Given the description of an element on the screen output the (x, y) to click on. 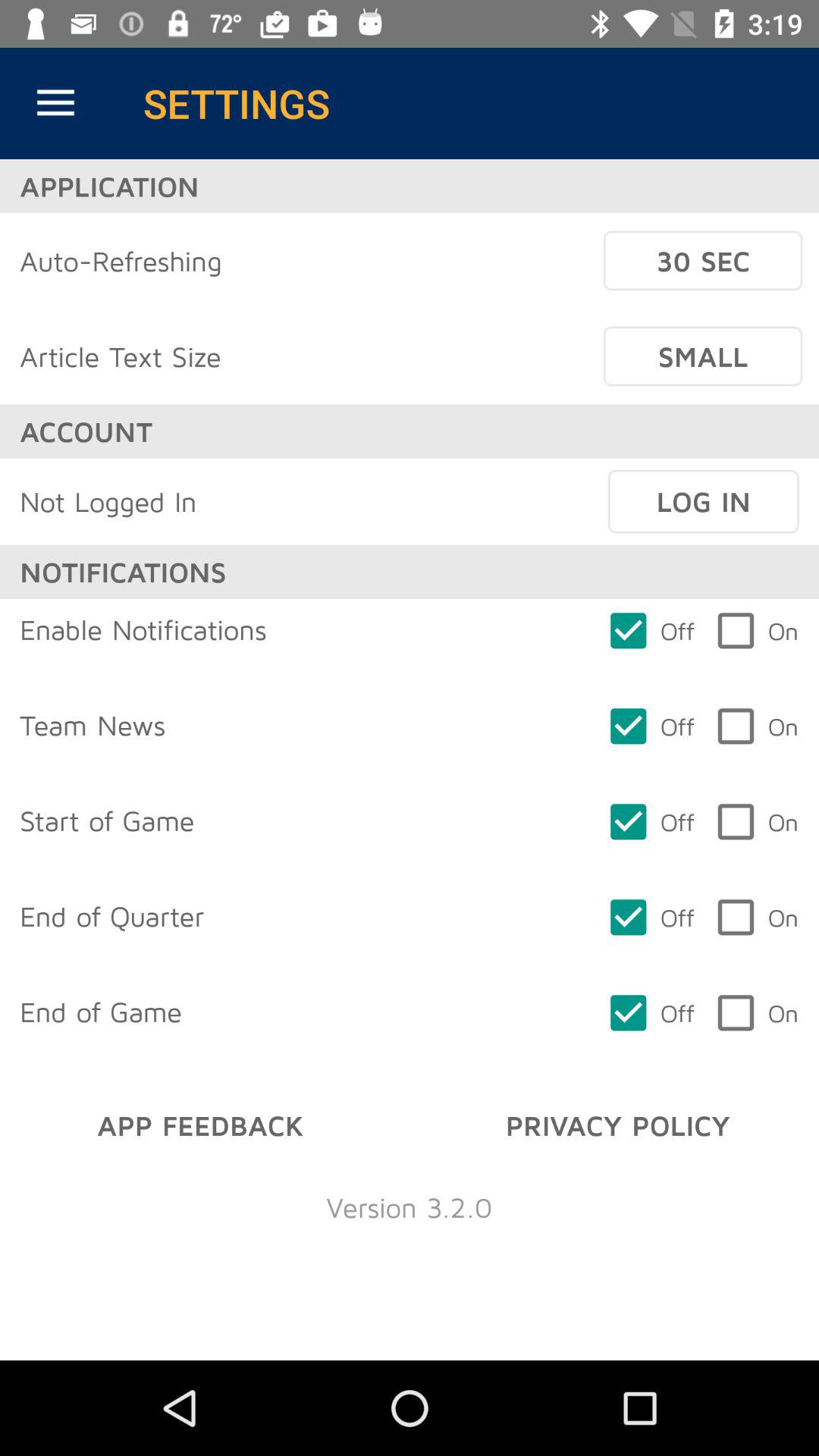
jump to log in (703, 501)
